Given the description of an element on the screen output the (x, y) to click on. 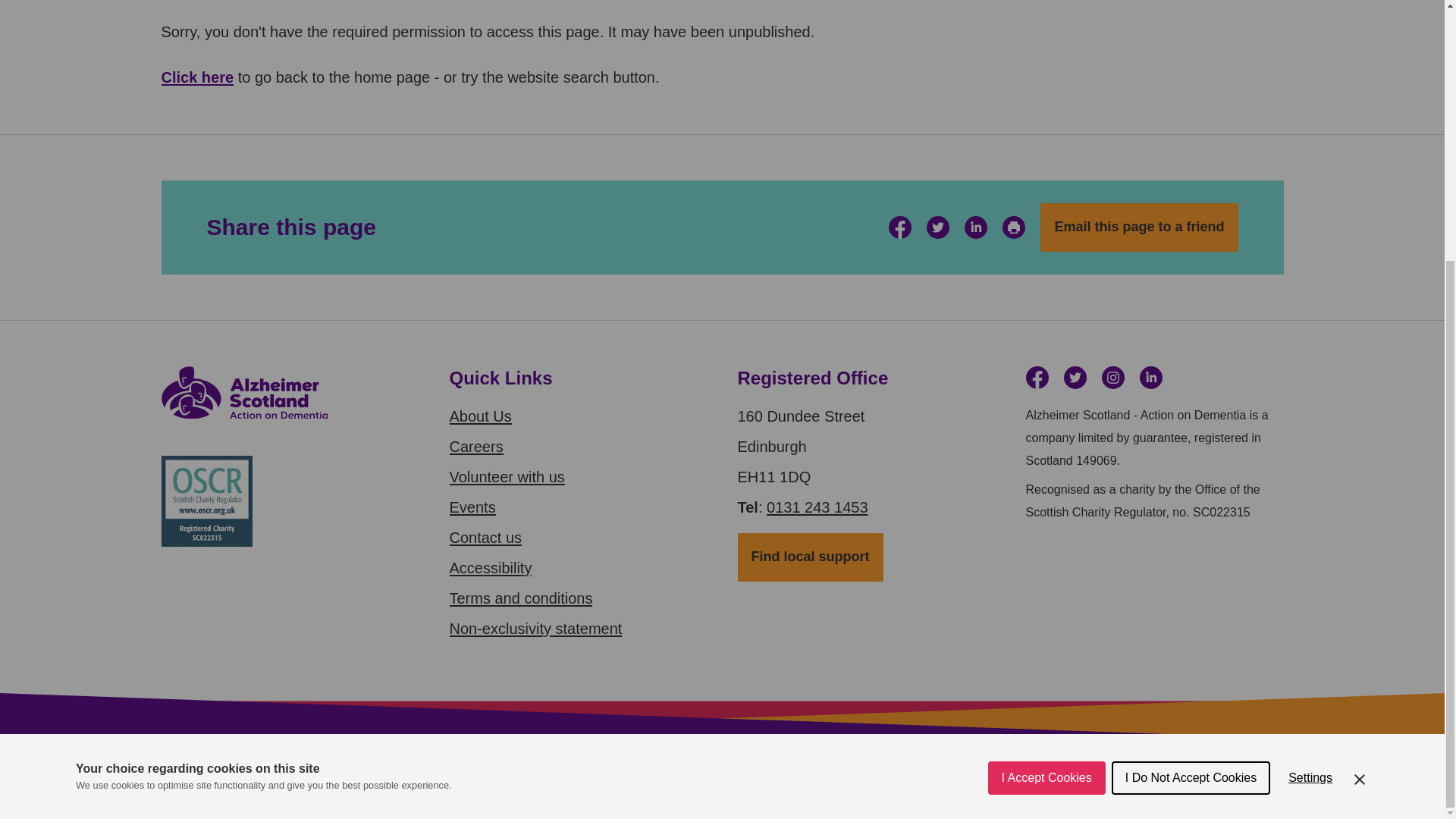
Opens in new window (1036, 377)
Email this page to a friend (1139, 227)
I Accept Cookies (1046, 470)
Share on Facebook (899, 227)
Opens in new window (1149, 377)
Click here (196, 76)
Opens in new window (975, 227)
I Do Not Accept Cookies (1190, 454)
Opens in new window (1112, 377)
We are Scotland's dementia charity (196, 76)
Print this page (1014, 227)
Opens in new window (937, 227)
Opens in new window (899, 227)
Settings (1309, 447)
Careers (475, 446)
